Given the description of an element on the screen output the (x, y) to click on. 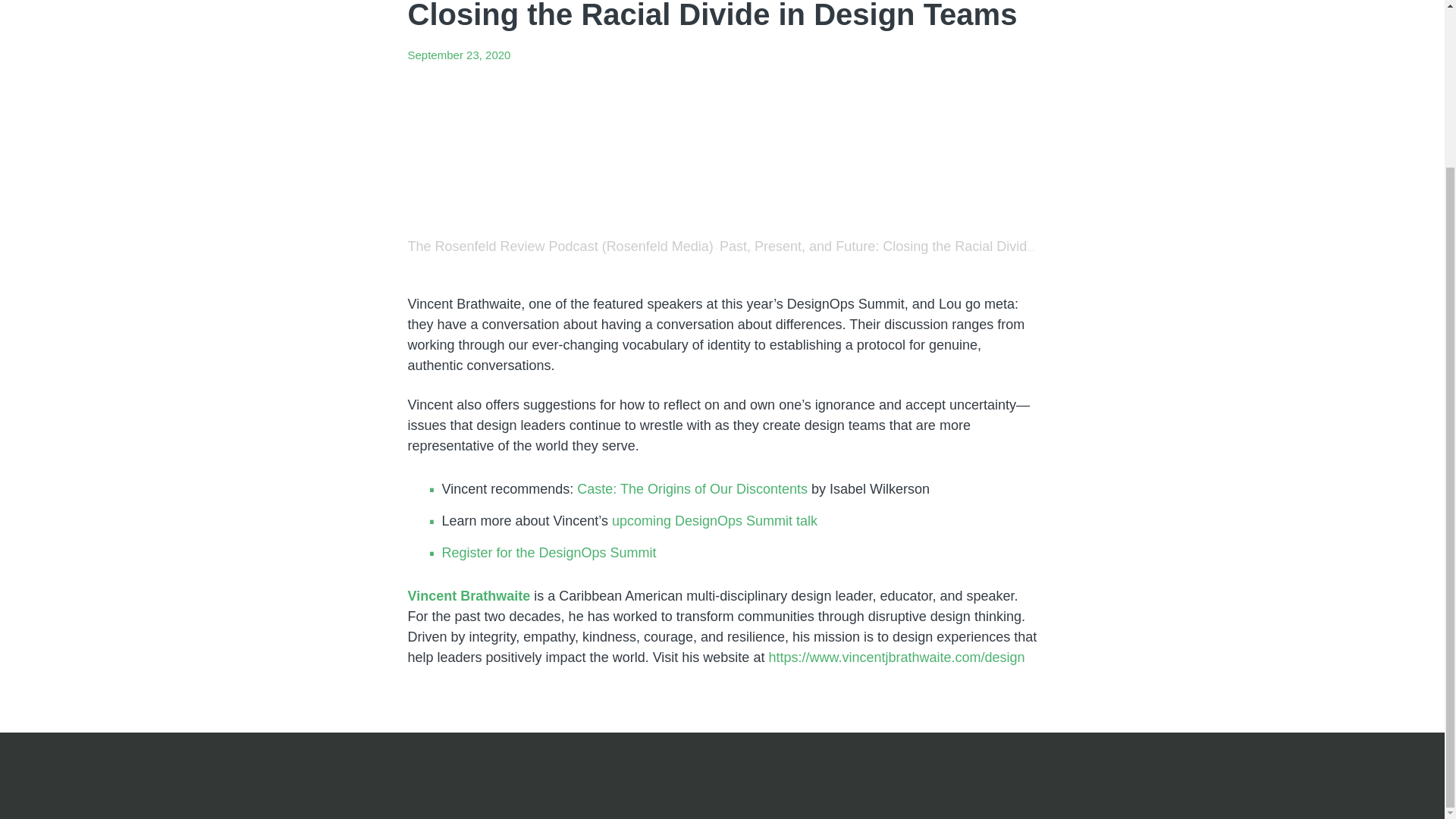
Vincent Brathwaite (470, 595)
Register for the DesignOps Summit (548, 552)
Caste: The Origins of Our Discontents (693, 488)
upcoming DesignOps Summit talk (713, 520)
